Given the description of an element on the screen output the (x, y) to click on. 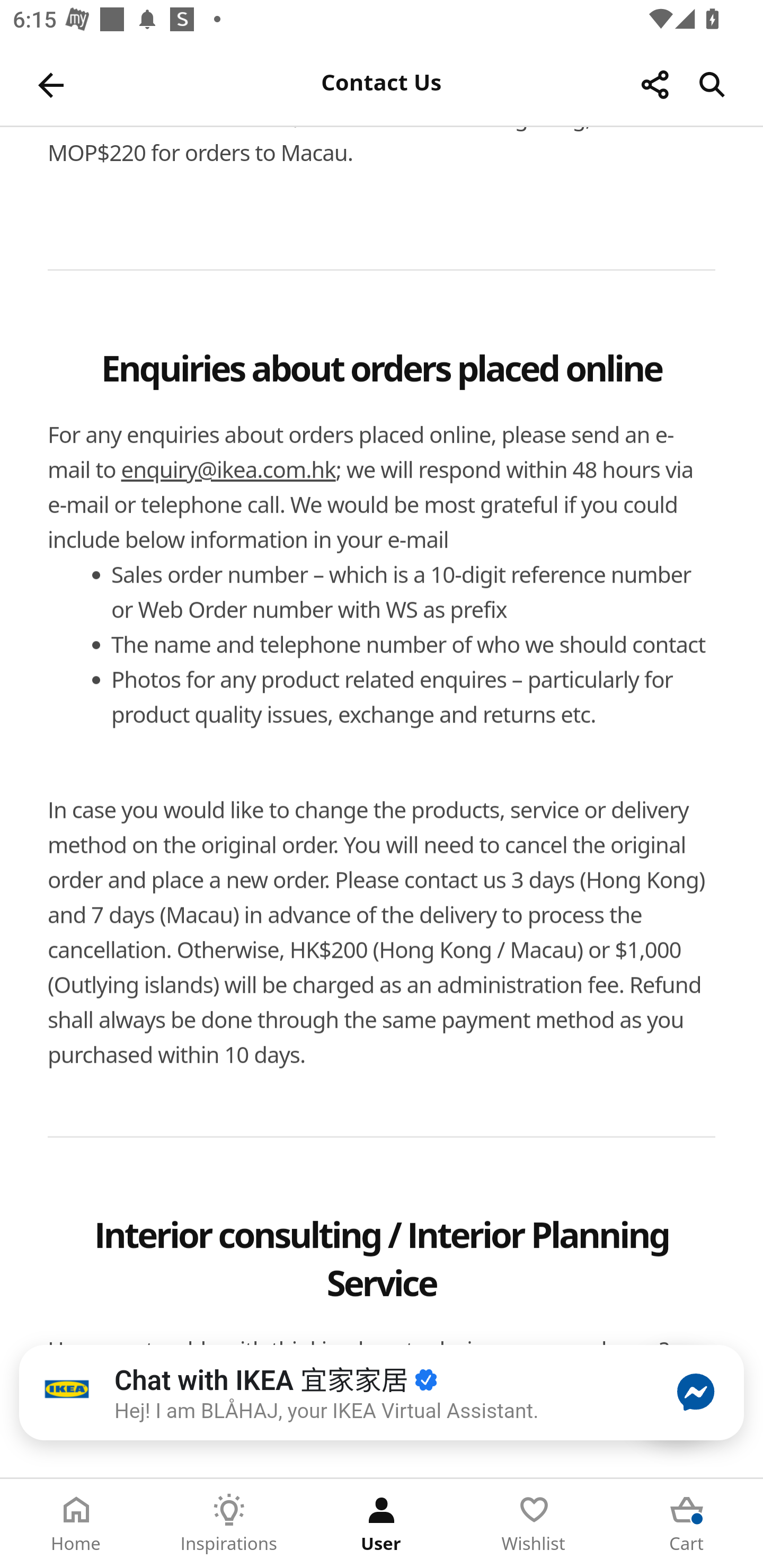
enquiry@ikea.com.hk (228, 470)
Home
Tab 1 of 5 (76, 1522)
Inspirations
Tab 2 of 5 (228, 1522)
User
Tab 3 of 5 (381, 1522)
Wishlist
Tab 4 of 5 (533, 1522)
Cart
Tab 5 of 5 (686, 1522)
